Given the description of an element on the screen output the (x, y) to click on. 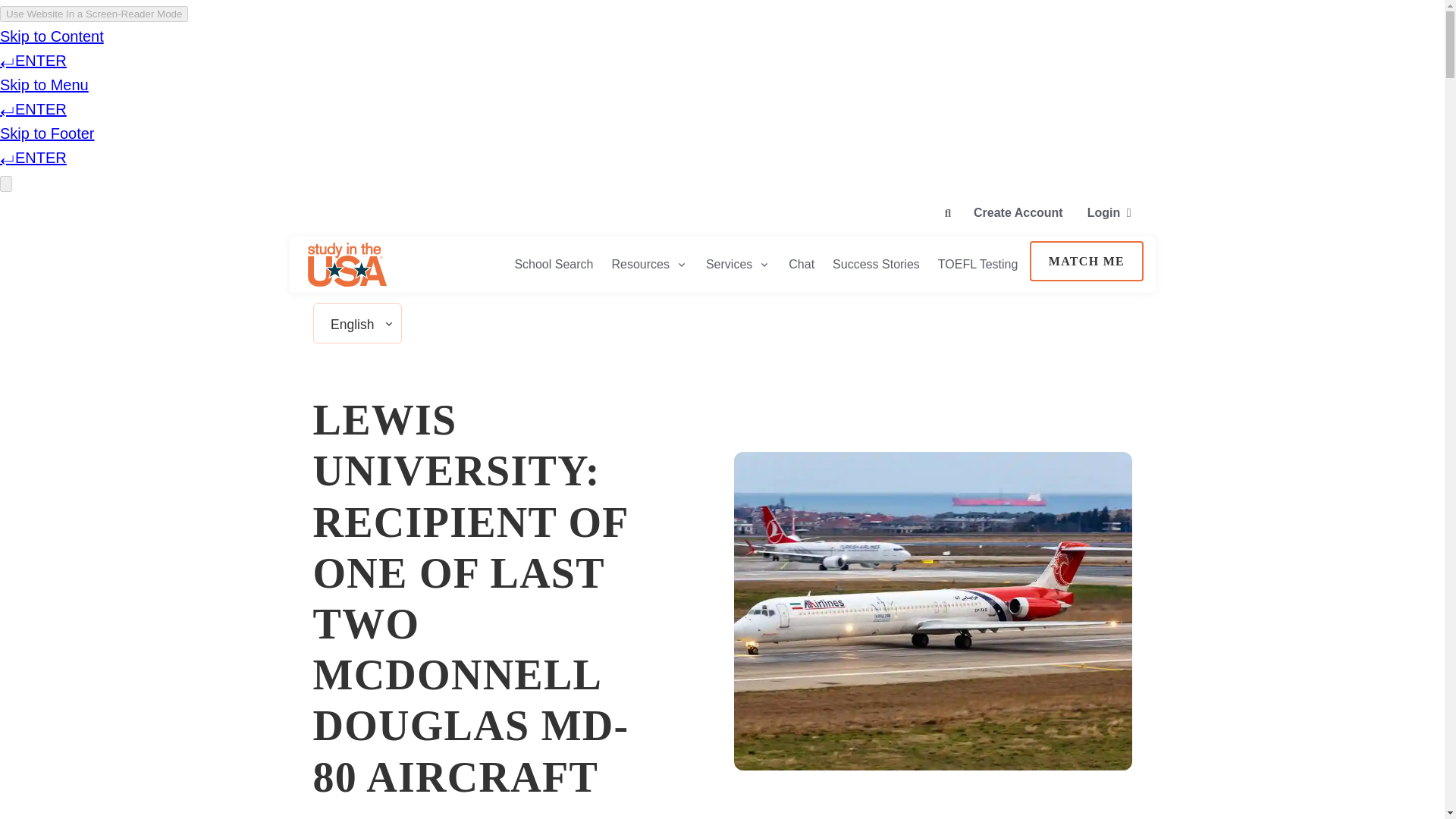
Create Account (1017, 210)
English (352, 324)
Success Stories (876, 264)
MATCH ME (1085, 260)
Login (1108, 210)
TOEFL Testing (977, 264)
School Search (553, 264)
Resources (648, 264)
Services (737, 264)
Open search panel. (947, 212)
